Given the description of an element on the screen output the (x, y) to click on. 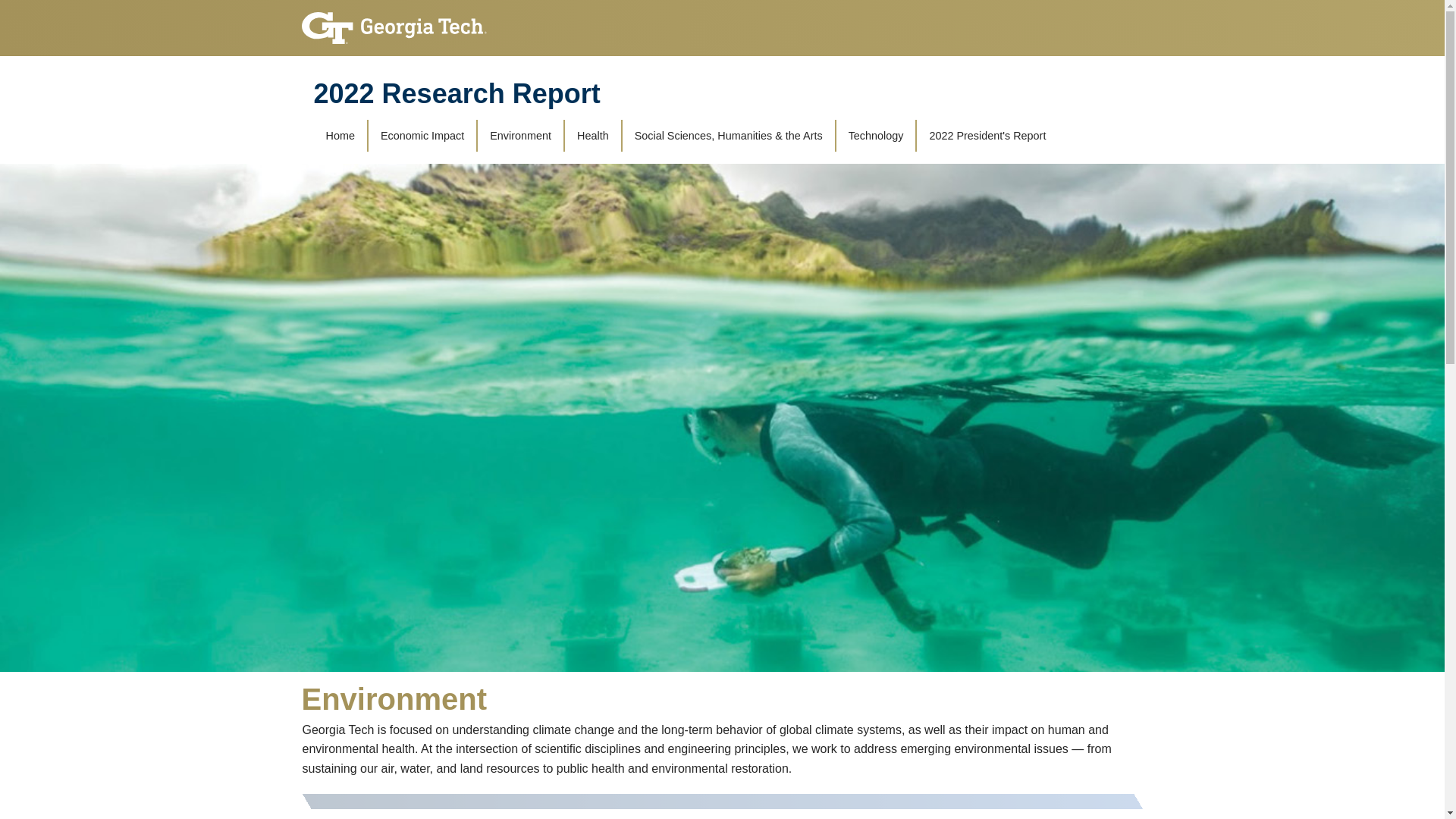
2022 President's Report (986, 135)
Technology (876, 135)
Economic Impact (422, 135)
Georgia Institute of Technology (393, 21)
Home (340, 135)
Environment (520, 135)
Health (592, 135)
